Given the description of an element on the screen output the (x, y) to click on. 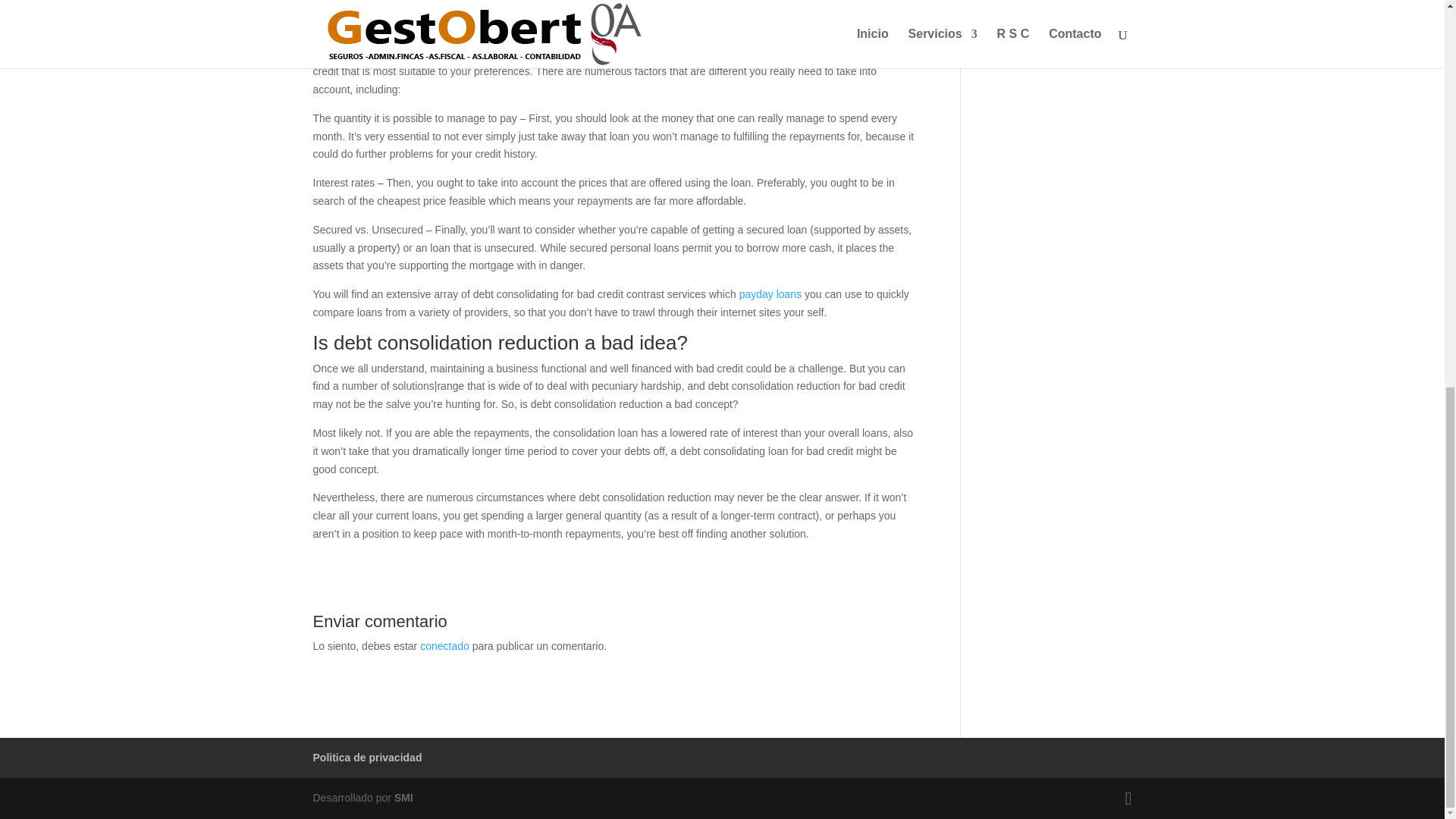
Politica de privacidad (367, 757)
SMI (403, 797)
conectado (444, 645)
payday loans (770, 294)
